Given the description of an element on the screen output the (x, y) to click on. 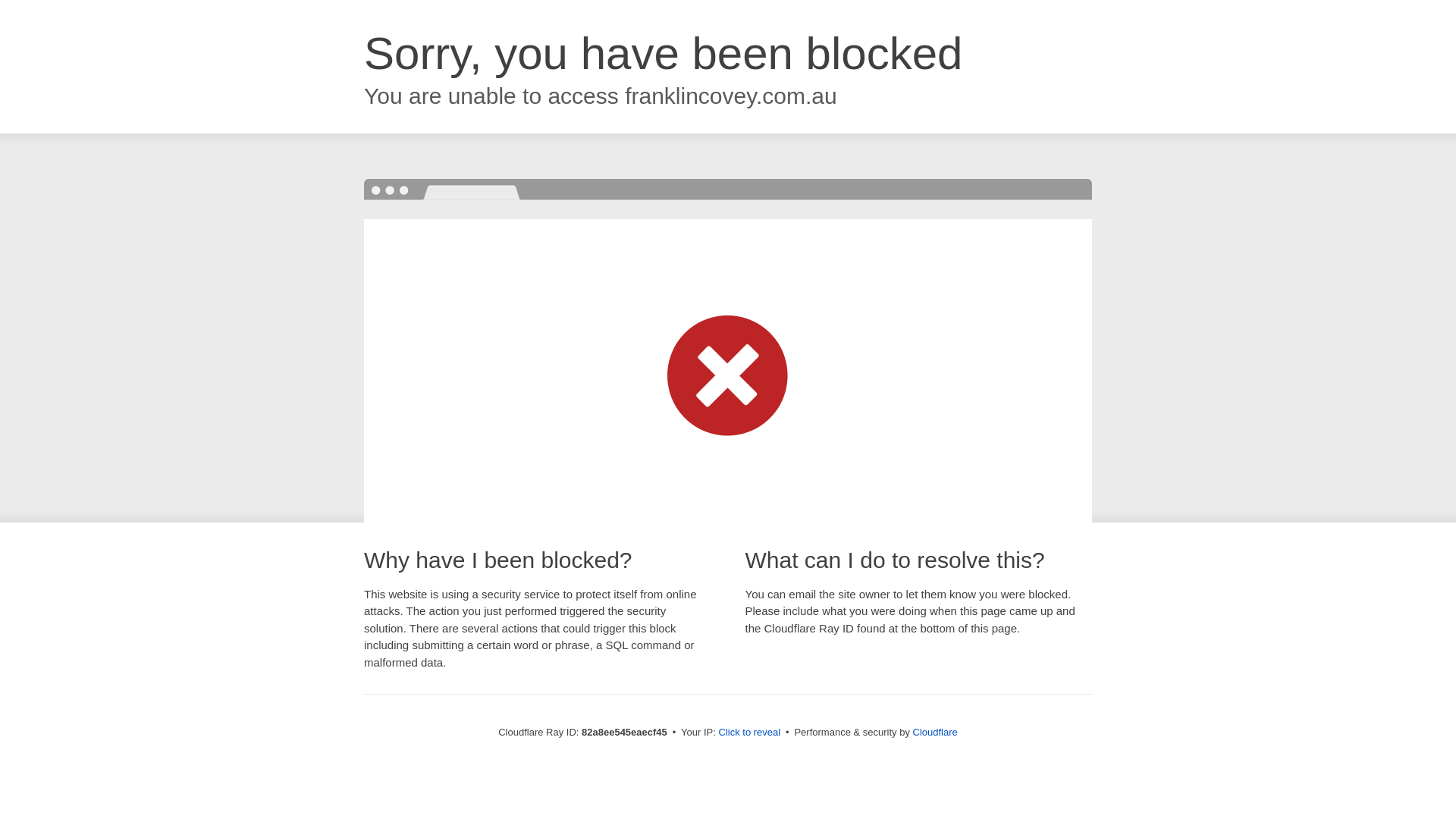
Click to reveal Element type: text (749, 732)
Cloudflare Element type: text (935, 731)
